Given the description of an element on the screen output the (x, y) to click on. 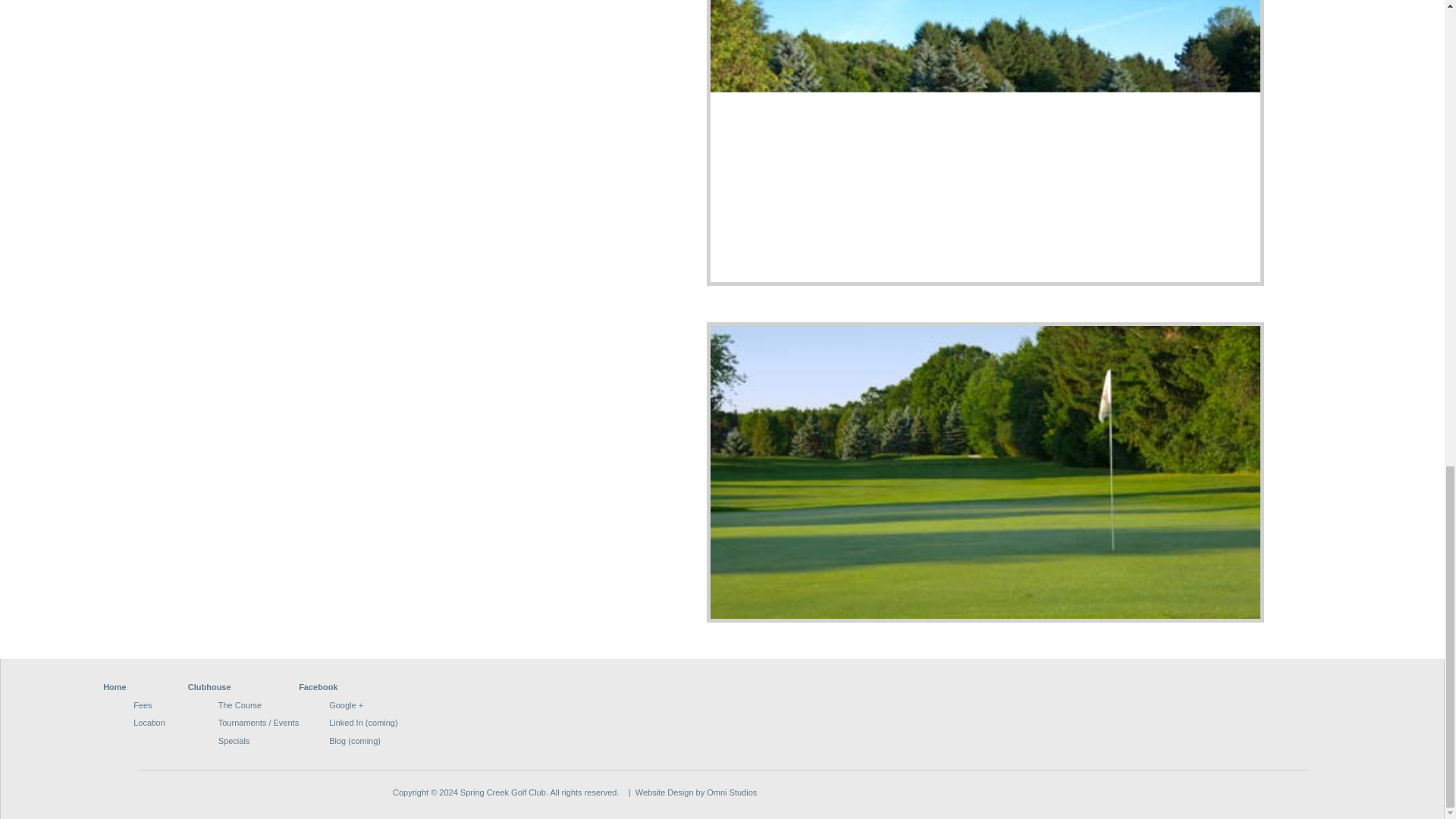
Linked In (345, 722)
The Course (240, 705)
Home (114, 686)
Clubhouse (209, 686)
Website Design by Omni Studios (695, 791)
Location (149, 722)
Facebook (317, 686)
Fees (142, 705)
Specials (234, 740)
Blog (337, 740)
